Given the description of an element on the screen output the (x, y) to click on. 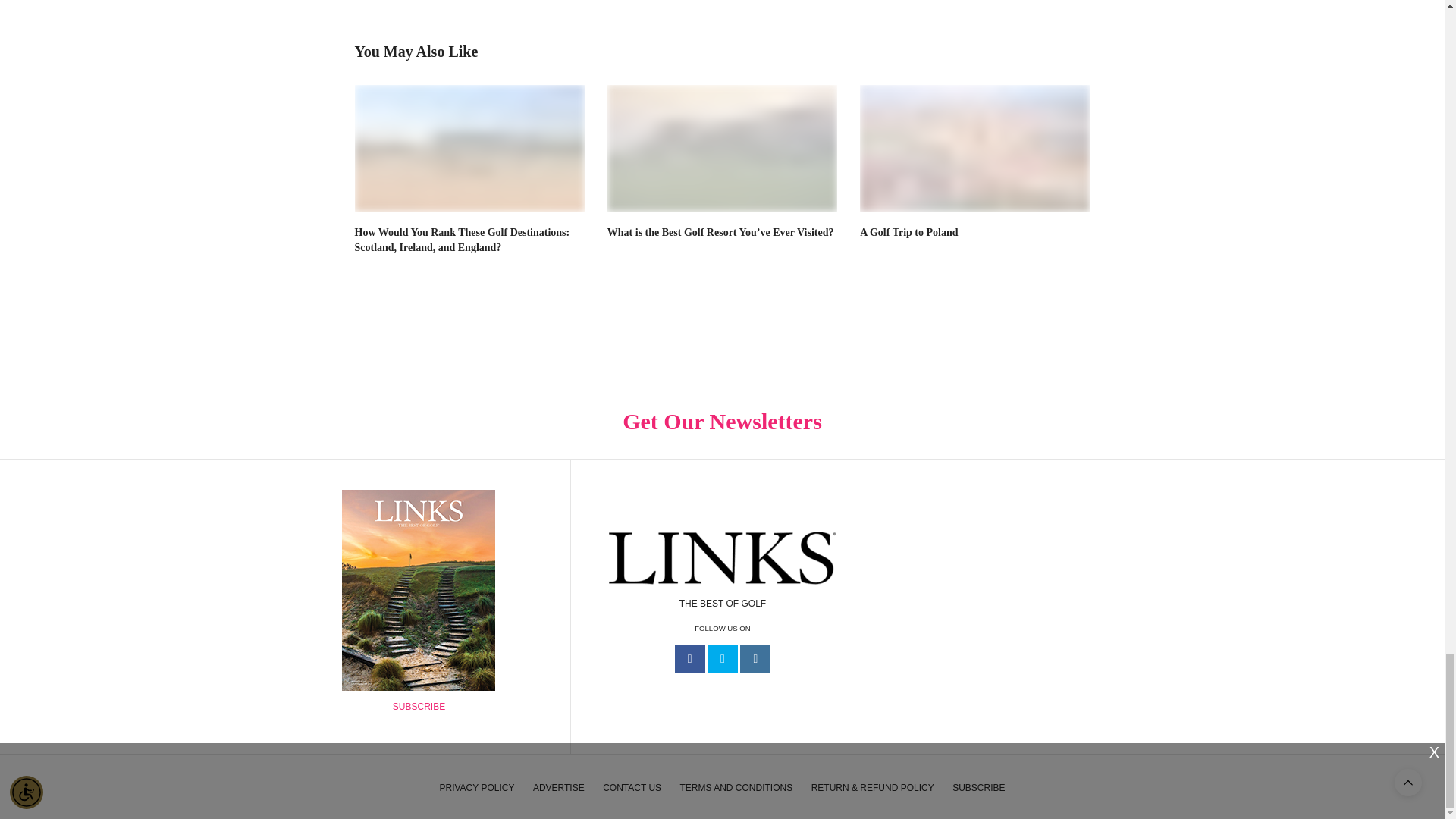
3rd party ad content (1026, 597)
